Given the description of an element on the screen output the (x, y) to click on. 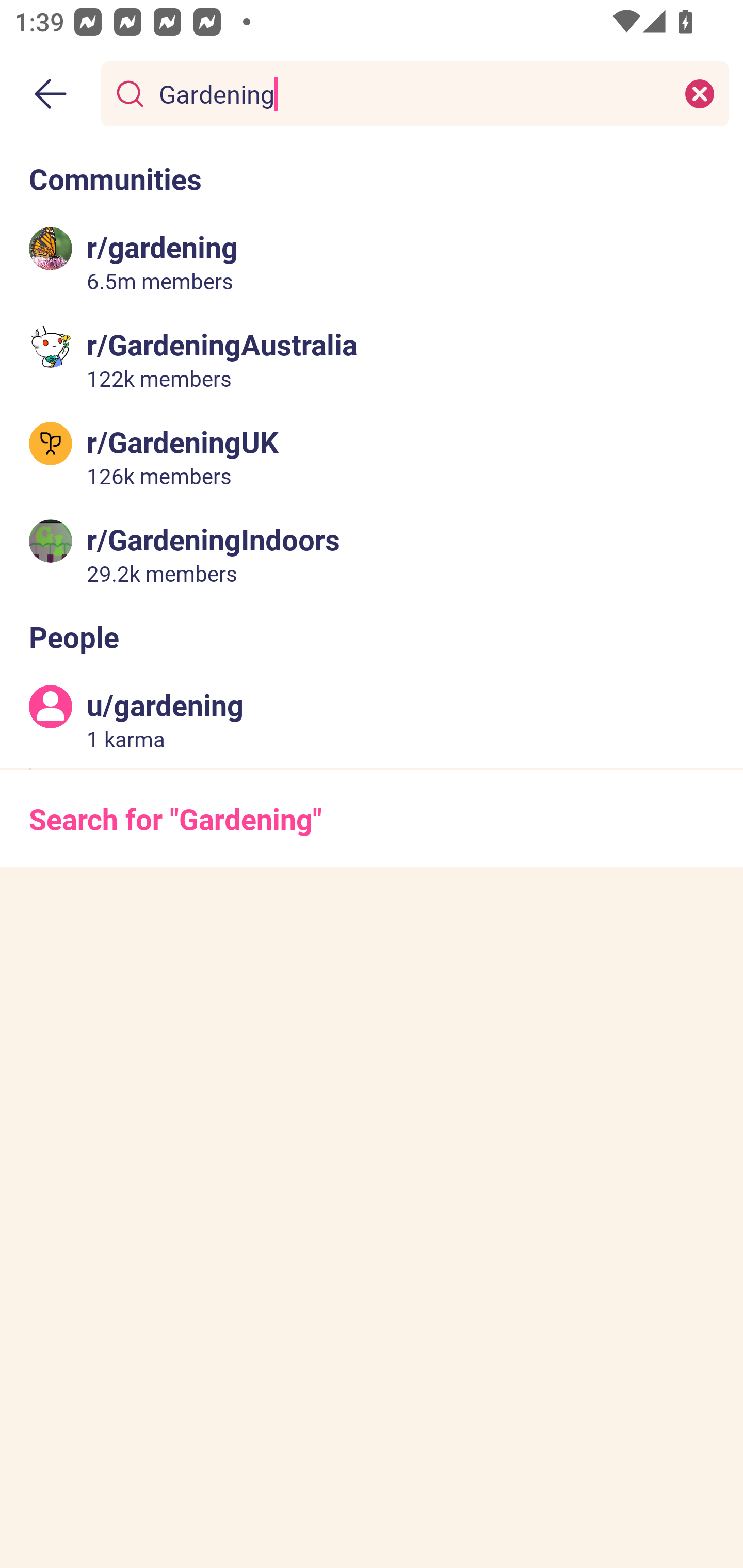
Back (50, 93)
Gardening (410, 93)
Clear search (699, 93)
r/gardening 6.5m members 6.5 million members (371, 261)
r/GardeningUK 126k members 126 thousand members (371, 455)
u/gardening 1 karma 1 karma (371, 719)
Search for "Gardening" (371, 818)
